Given the description of an element on the screen output the (x, y) to click on. 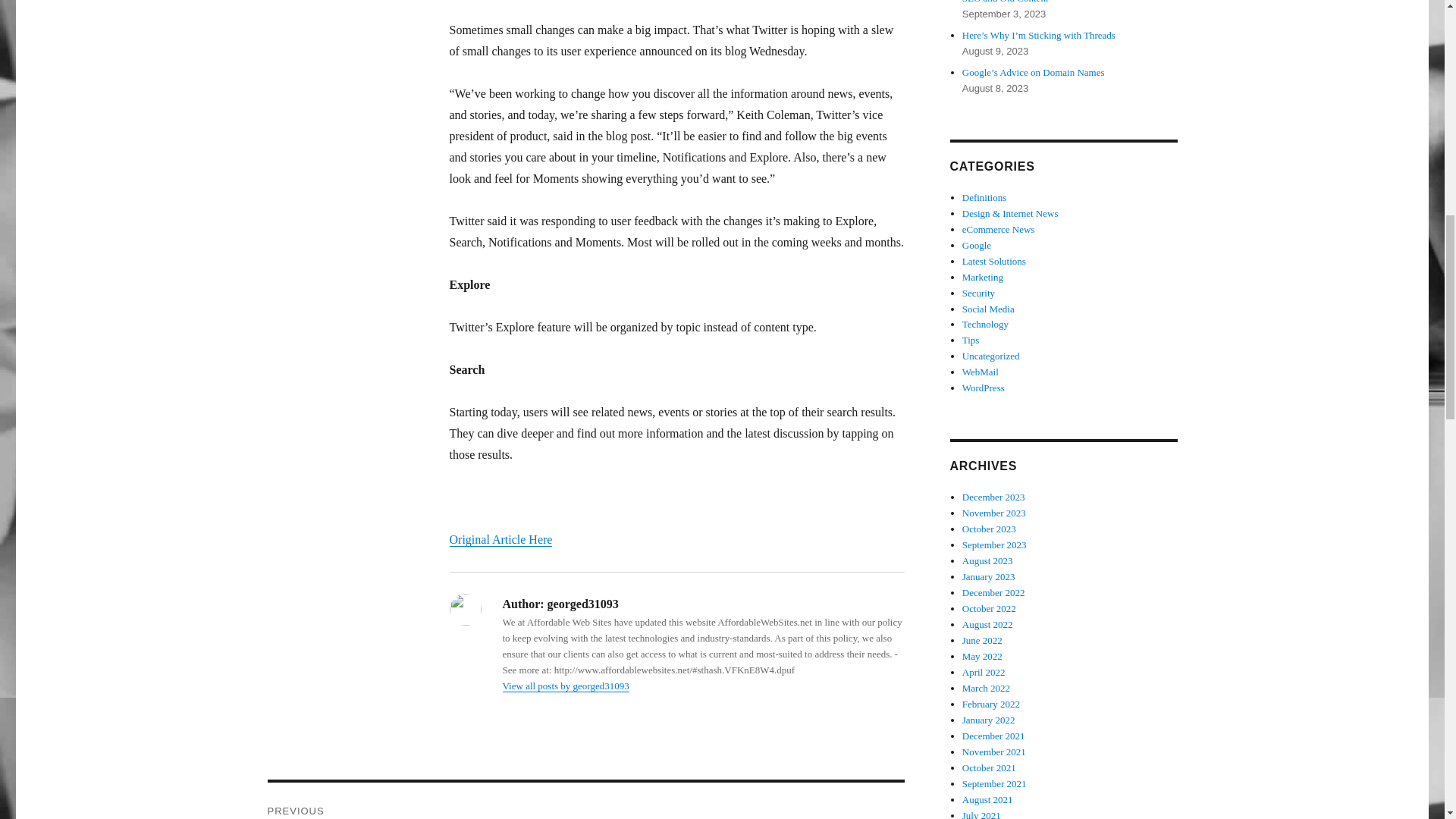
Latest Solutions (994, 260)
Social Media (988, 308)
Security (978, 292)
View all posts by georged31093 (565, 685)
WebMail (980, 371)
Marketing (982, 276)
Definitions (984, 197)
Technology (985, 324)
WordPress (983, 387)
Tips (970, 339)
Uncategorized (991, 355)
SEO and Old Content (1005, 2)
eCommerce News (998, 229)
Original Article Here (499, 539)
Google (976, 244)
